Given the description of an element on the screen output the (x, y) to click on. 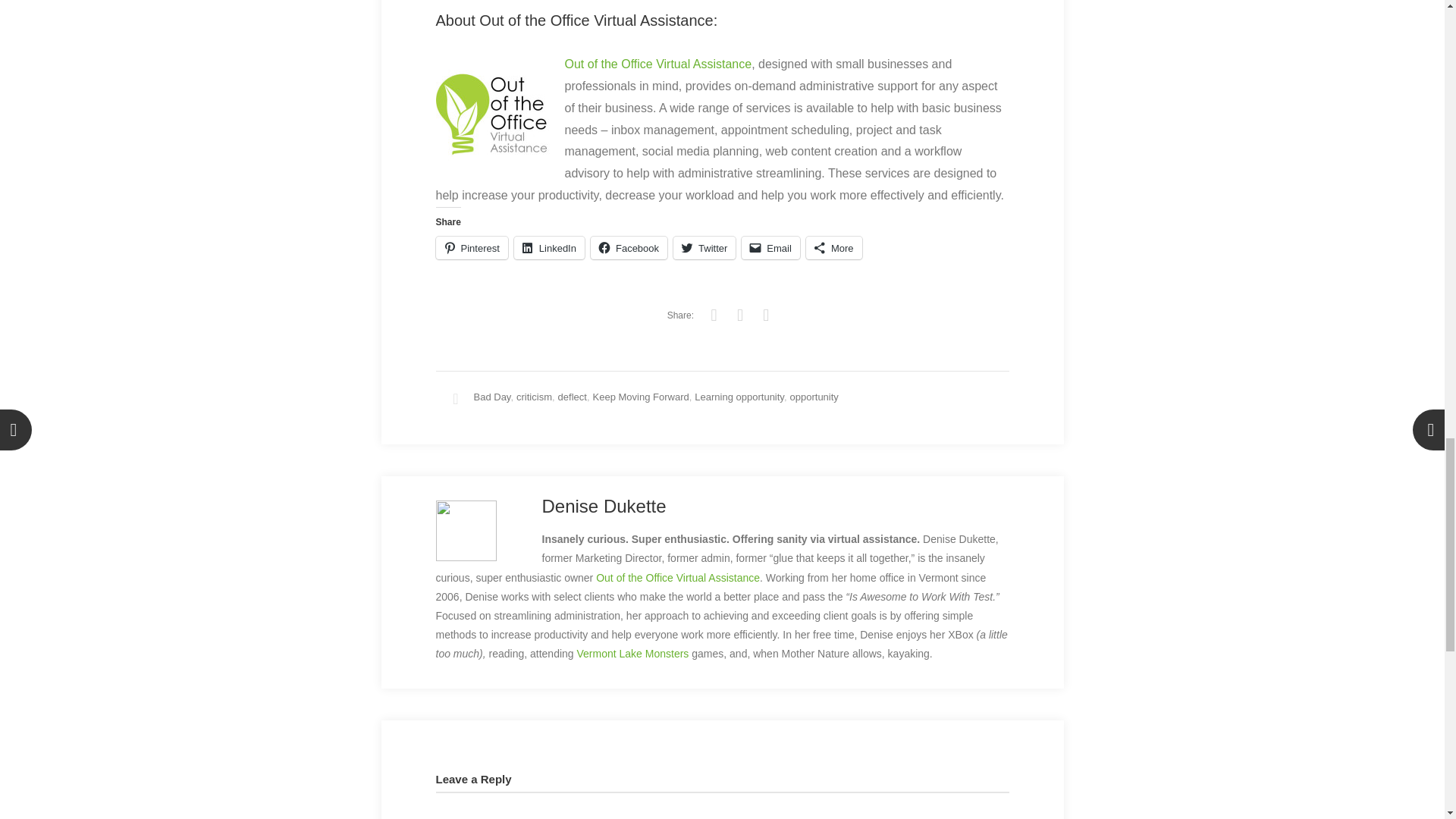
Email (770, 247)
LinkedIn (549, 247)
Pinterest (470, 247)
Out of the Office Virtual Assistance (657, 63)
Click to share on Twitter (703, 247)
More (833, 247)
Click to share on Facebook (628, 247)
Facebook (628, 247)
Click to email a link to a friend (770, 247)
Twitter (703, 247)
Click to share on Pinterest (470, 247)
Click to share on LinkedIn (549, 247)
